Given the description of an element on the screen output the (x, y) to click on. 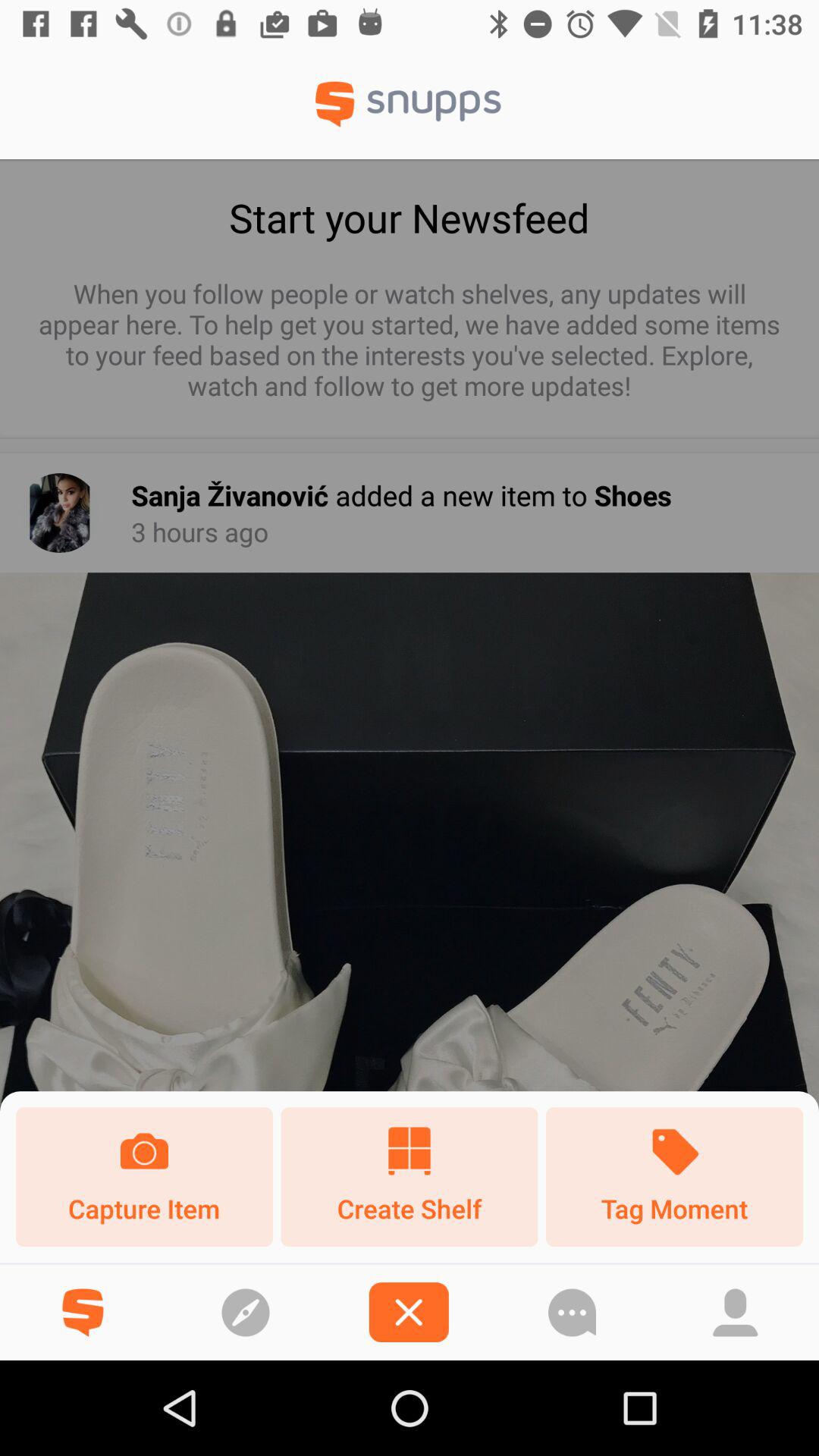
close app (408, 1312)
